Given the description of an element on the screen output the (x, y) to click on. 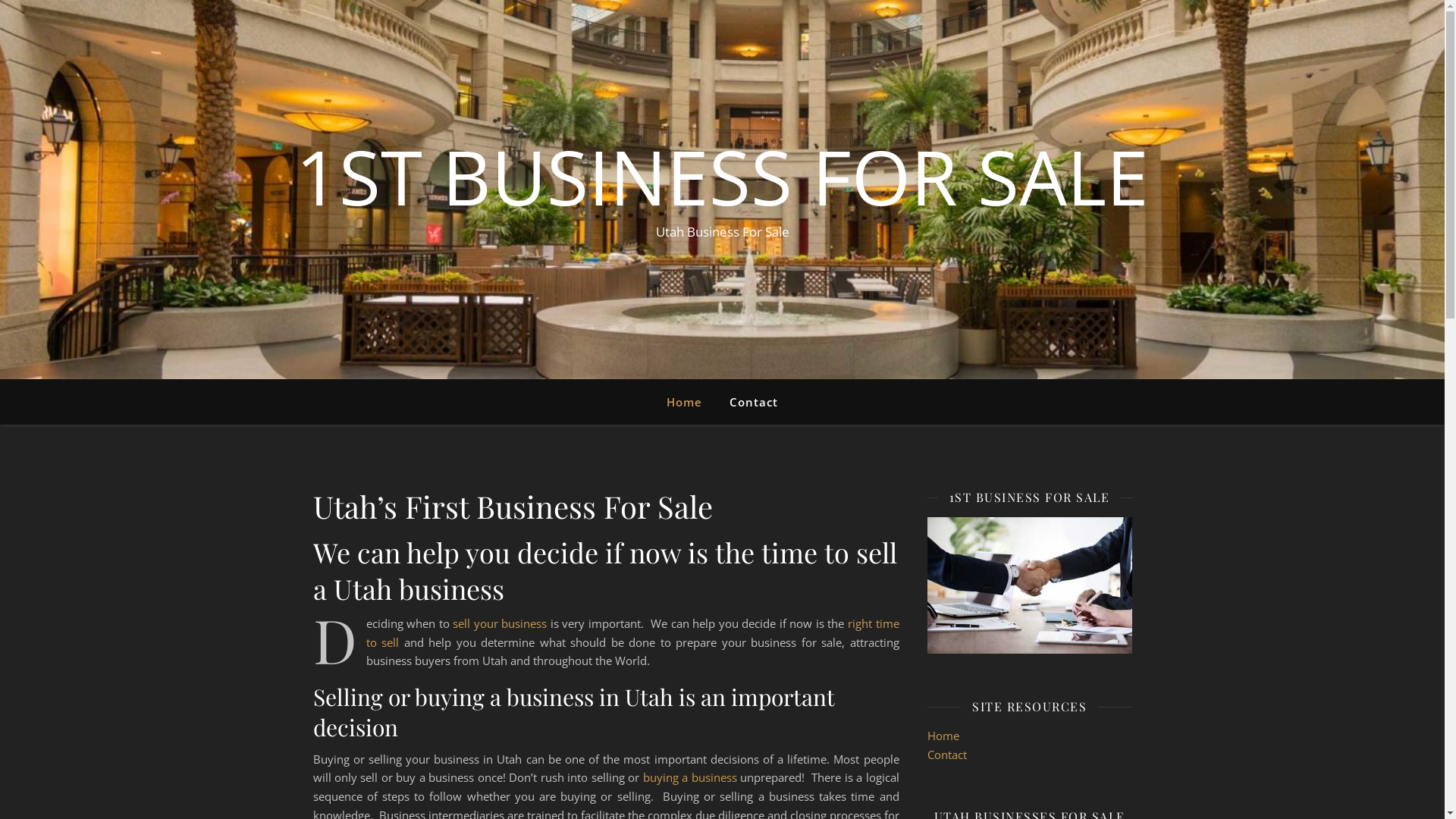
buying a business Element type: text (690, 776)
sell your business Element type: text (499, 622)
right time to sell Element type: text (631, 632)
Contact Element type: text (747, 401)
Home Element type: text (942, 735)
1ST BUSINESS FOR SALE Element type: text (722, 175)
Contact Element type: text (946, 754)
Home Element type: text (690, 401)
